Given the description of an element on the screen output the (x, y) to click on. 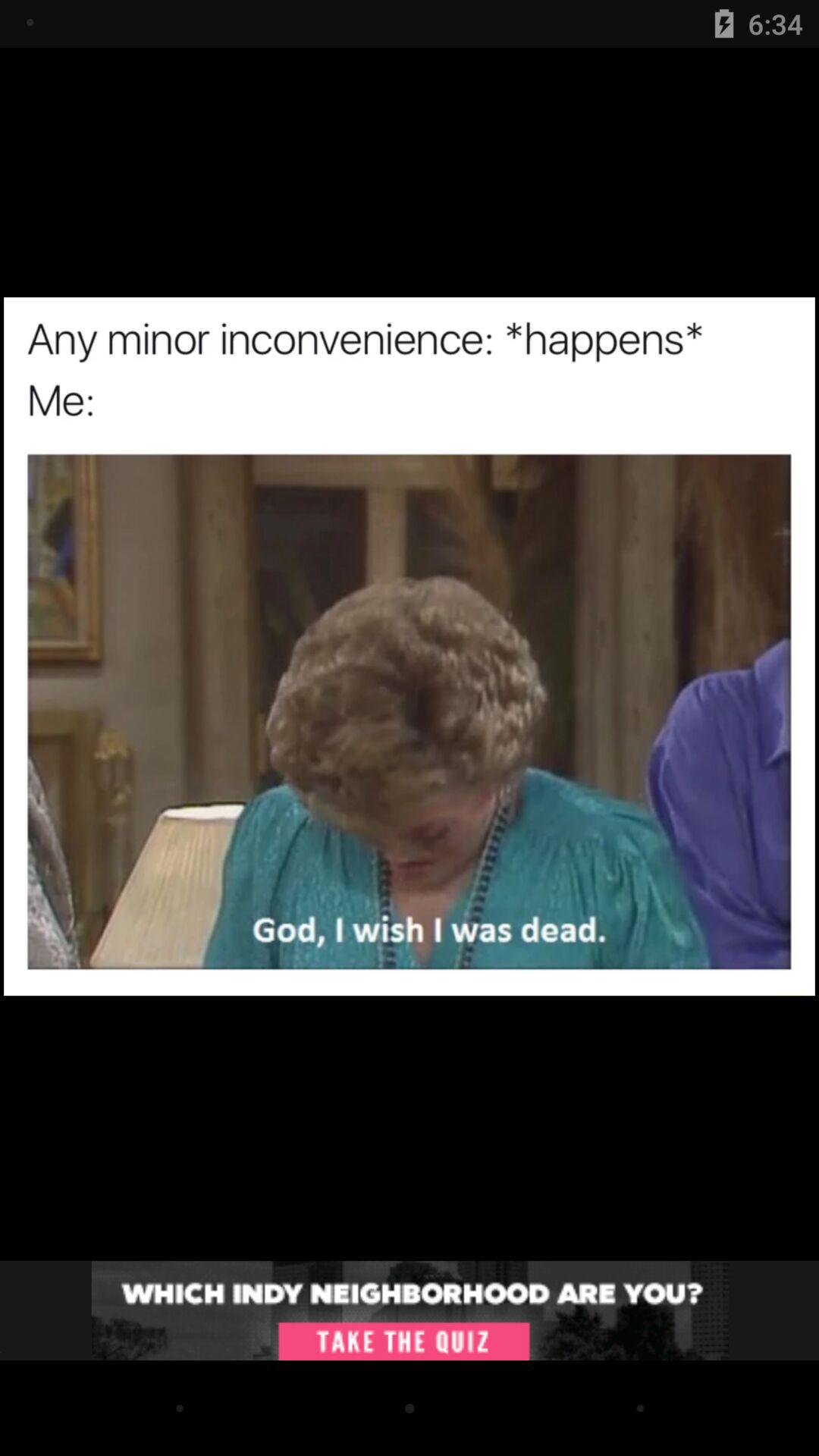
taking quiz about neighborhood (409, 1310)
